Given the description of an element on the screen output the (x, y) to click on. 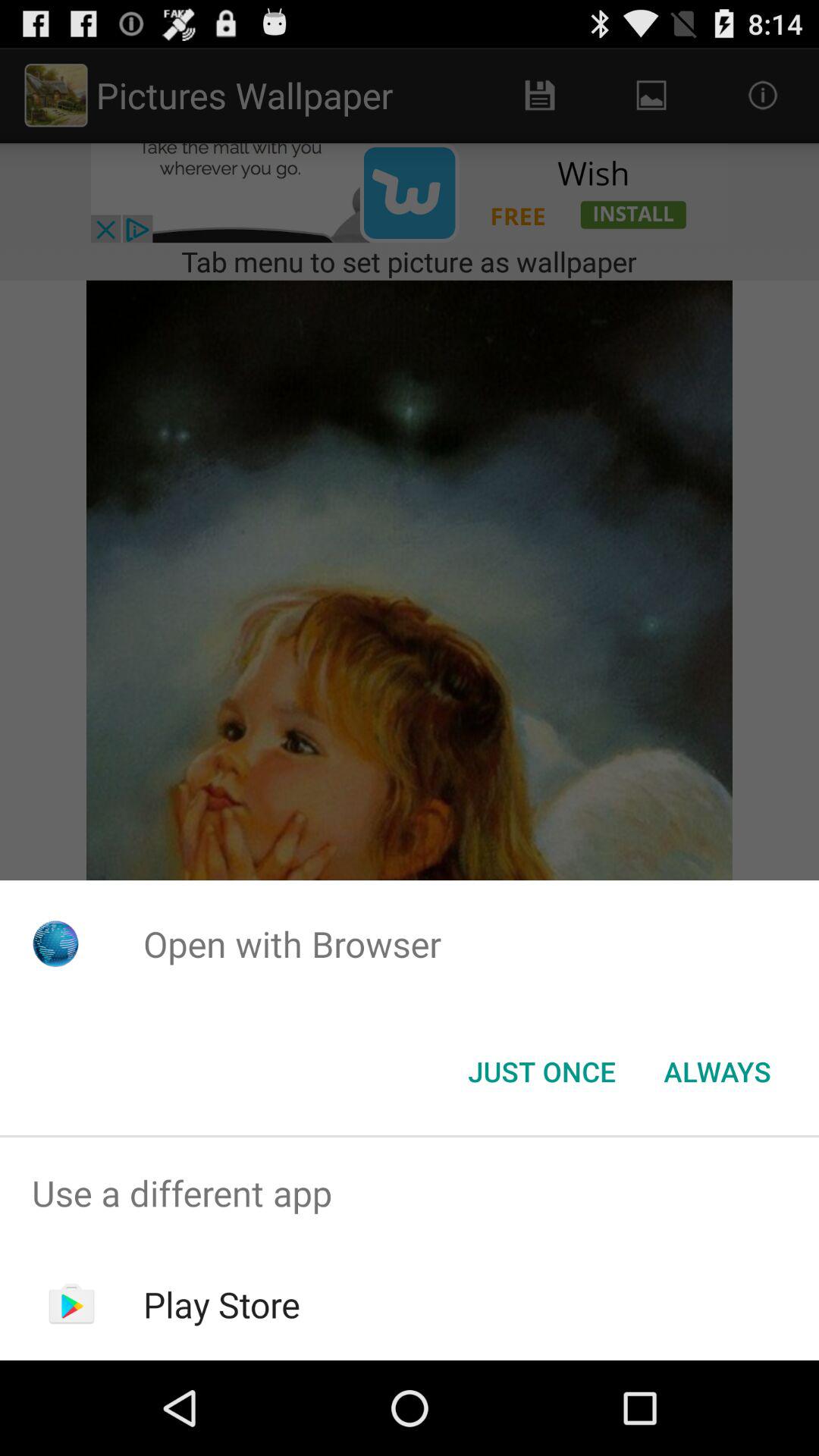
select button to the right of the just once button (717, 1071)
